Given the description of an element on the screen output the (x, y) to click on. 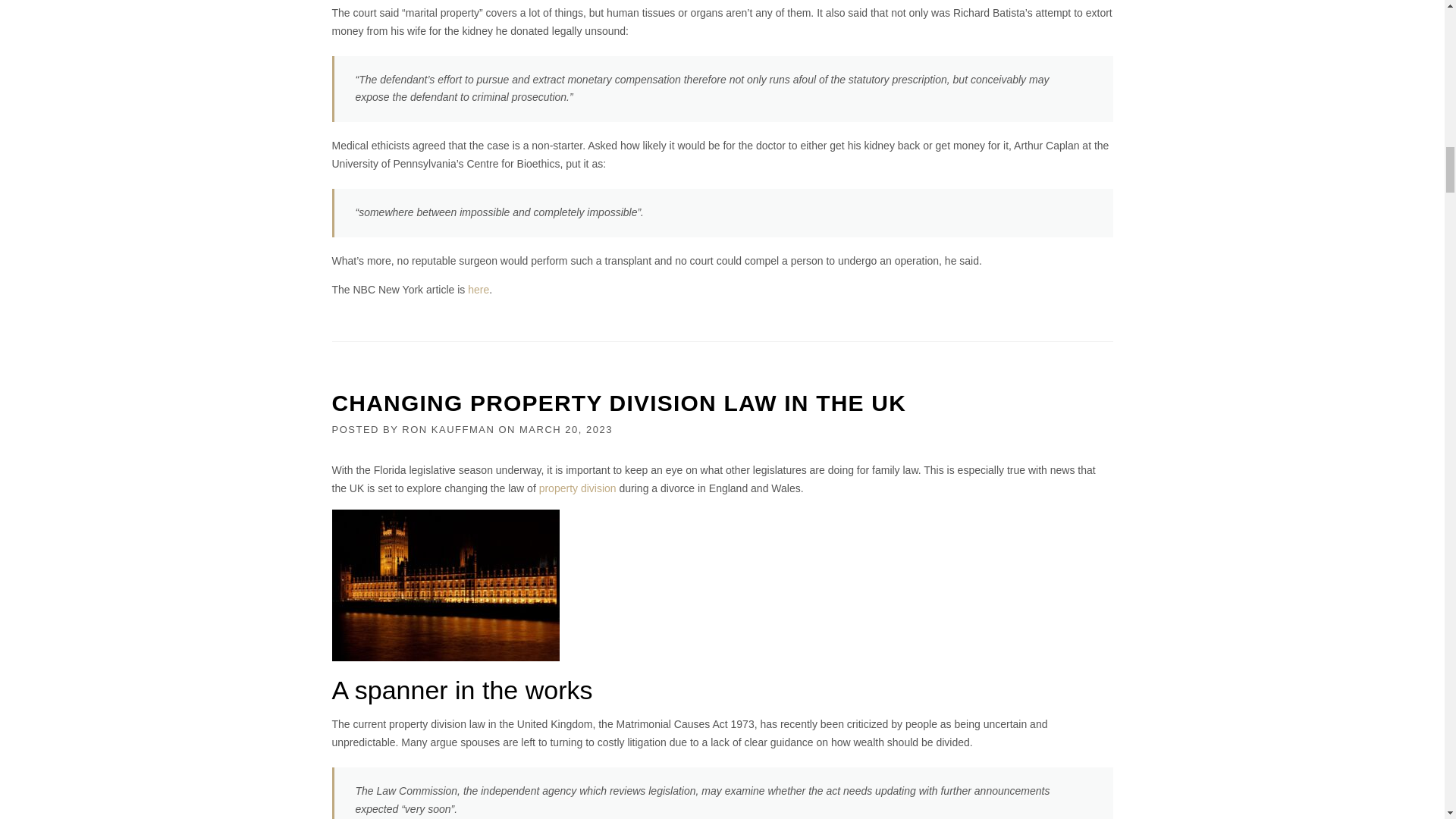
RON KAUFFMAN (448, 429)
MARCH 20, 2023 (565, 429)
Property Division Law (445, 584)
CHANGING PROPERTY DIVISION LAW IN THE UK (619, 402)
here (478, 289)
